Given the description of an element on the screen output the (x, y) to click on. 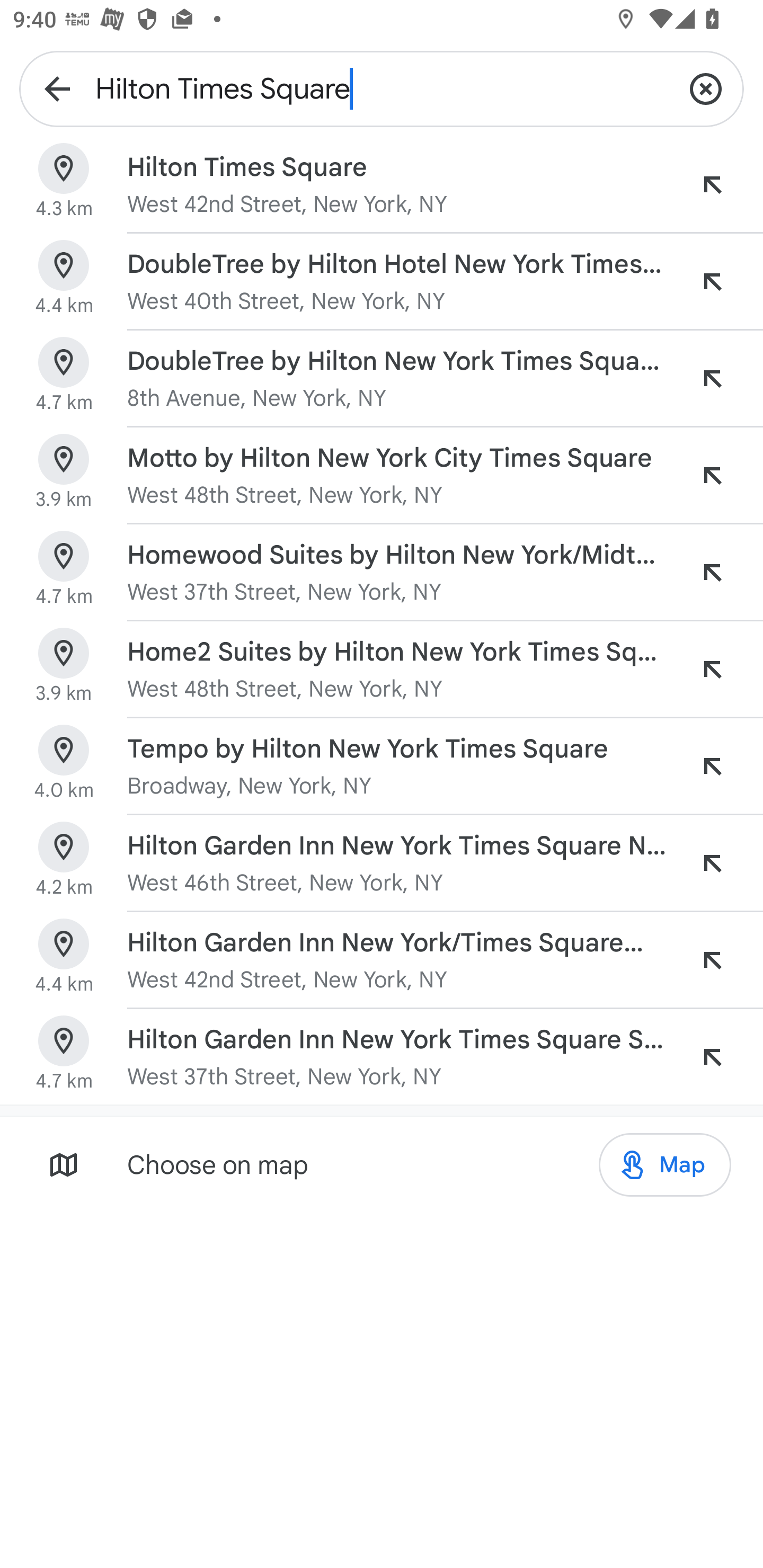
Navigate up (57, 88)
Hilton Times Square (381, 88)
Clear (705, 88)
Choose on map Map Map Map (381, 1164)
Map Map Map (664, 1164)
